Given the description of an element on the screen output the (x, y) to click on. 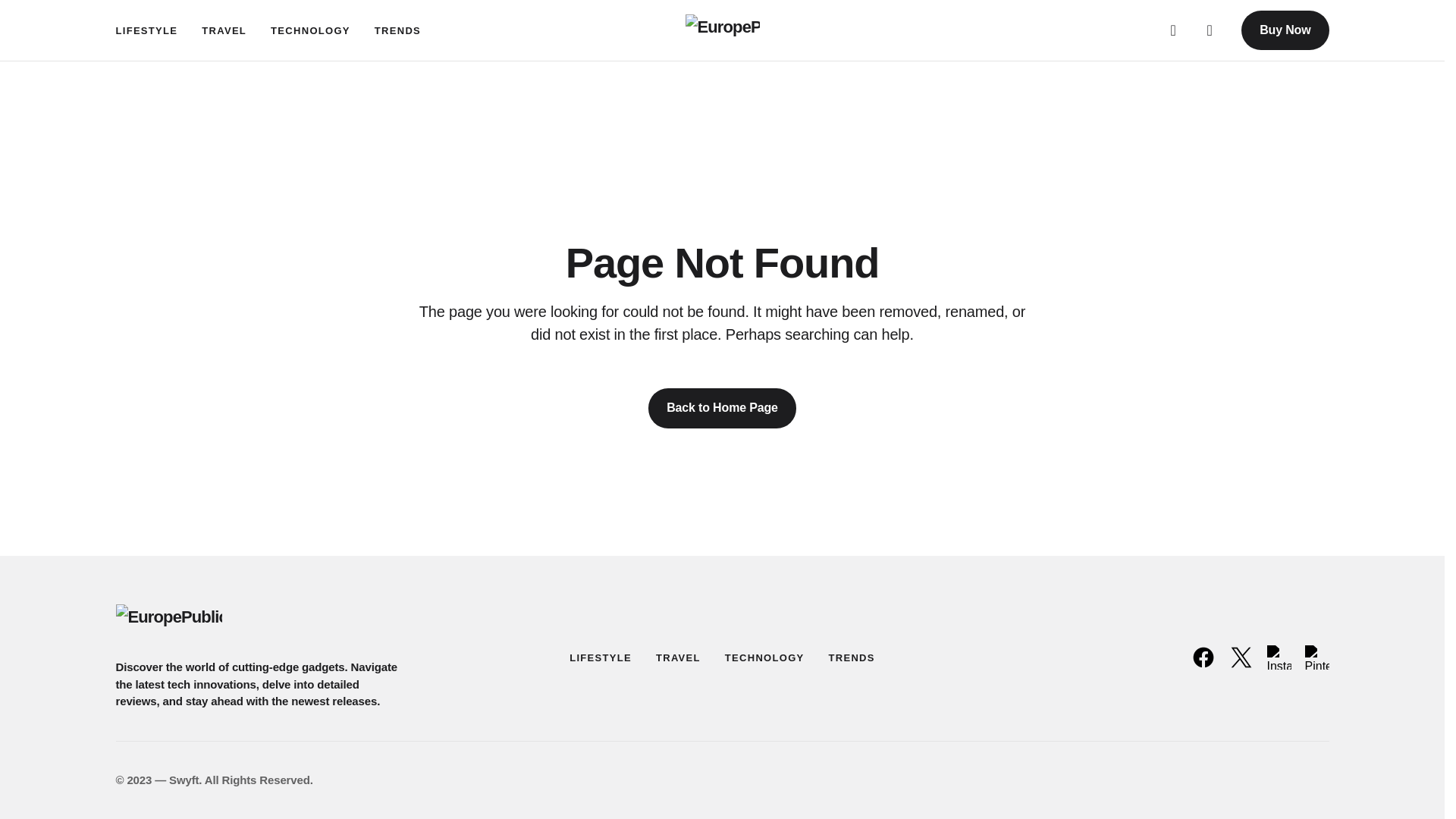
LIFESTYLE (146, 30)
TRENDS (851, 657)
LIFESTYLE (600, 657)
Back to Home Page (721, 407)
TECHNOLOGY (765, 657)
Buy Now (1284, 29)
TRAVEL (678, 657)
TECHNOLOGY (310, 30)
